Given the description of an element on the screen output the (x, y) to click on. 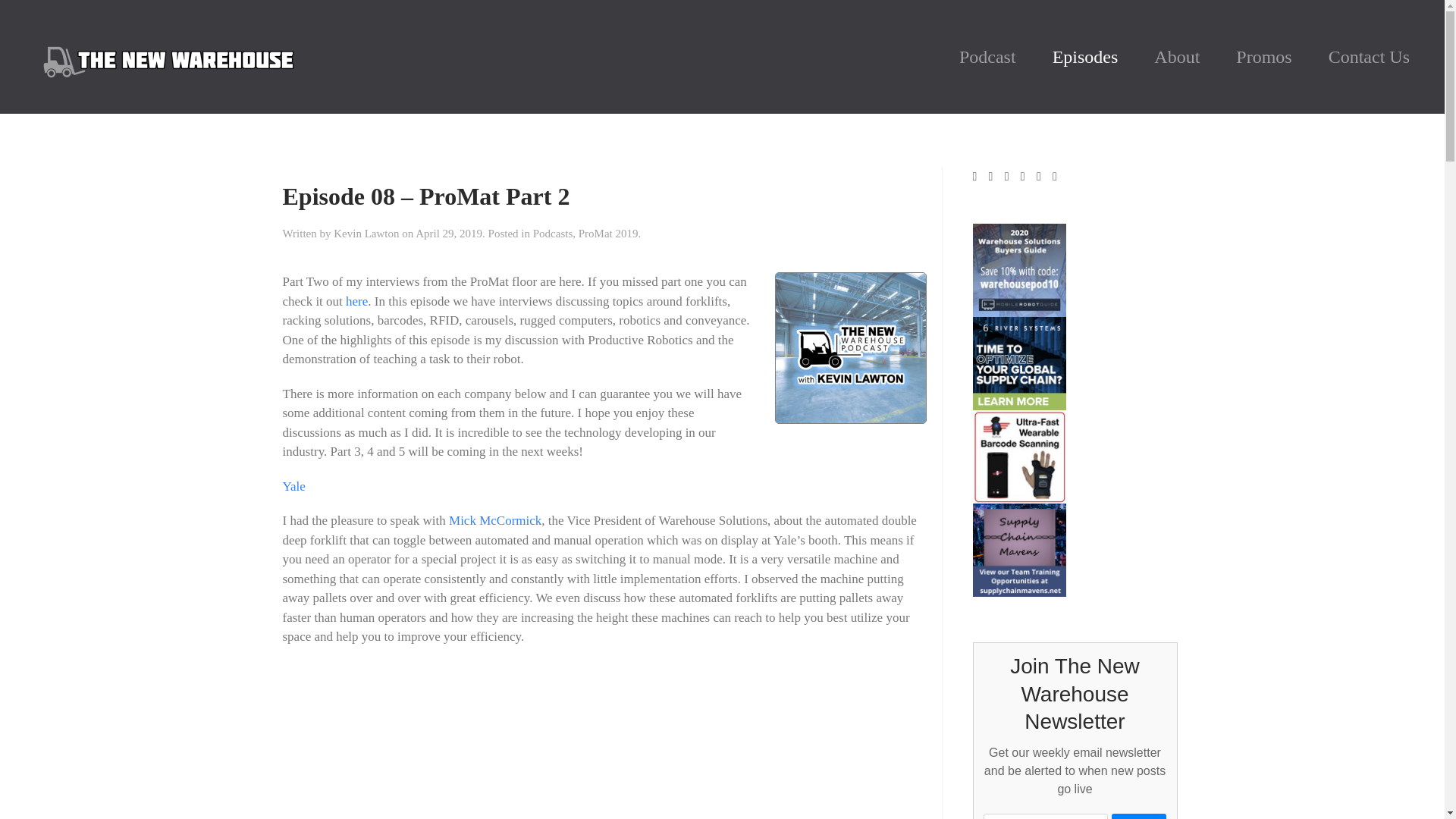
Rufus Web Ad (1018, 454)
Podcast (986, 56)
Promos (1262, 56)
Contact Us (1369, 56)
Yale (293, 486)
Podcasts (552, 233)
ProMat 2019 (608, 233)
About (1176, 56)
Mick McCormick (494, 520)
Episodes (1085, 56)
here (357, 301)
Kevin Lawton (365, 233)
